Given the description of an element on the screen output the (x, y) to click on. 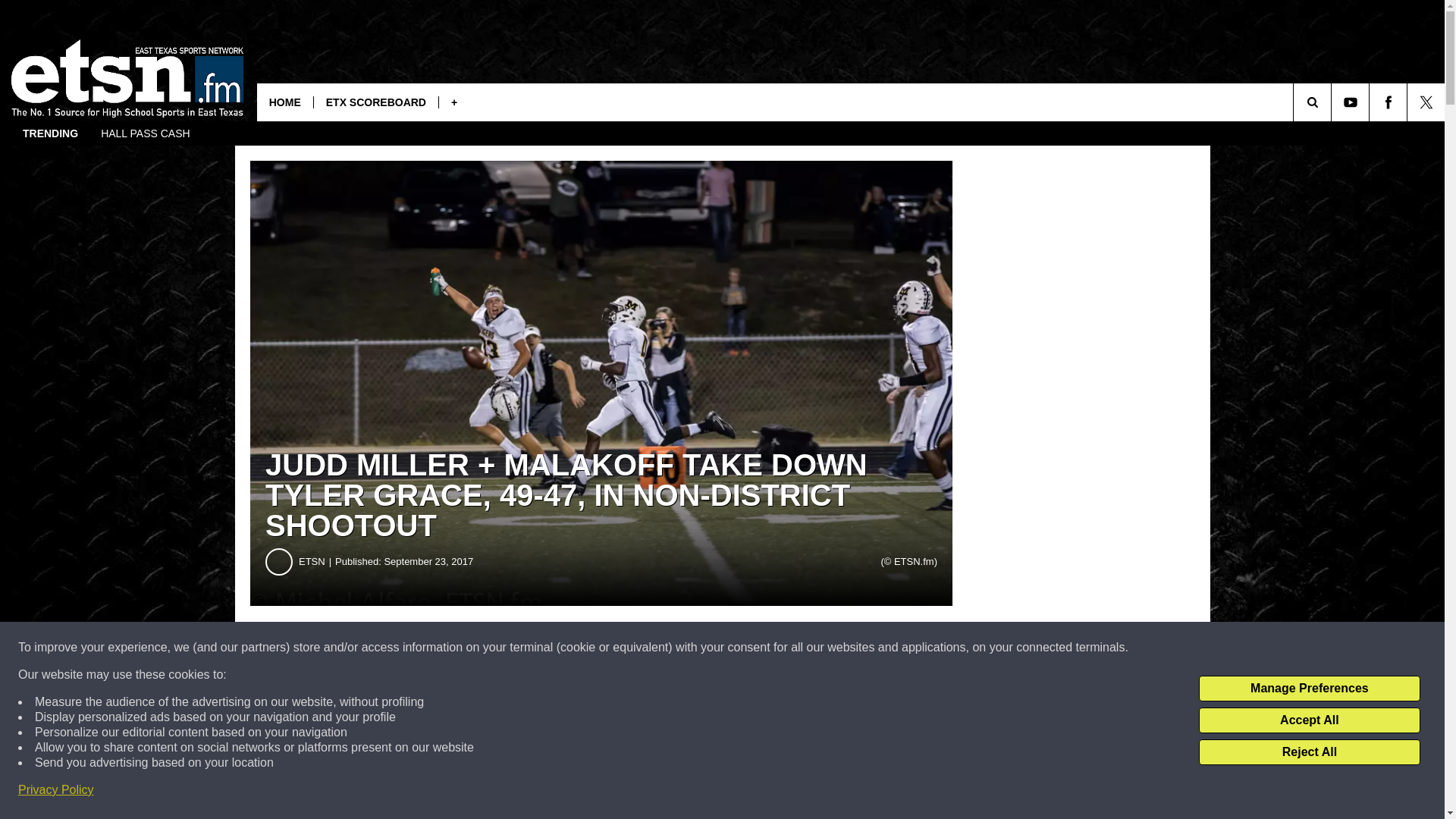
Share on Facebook (460, 647)
Share on Twitter (741, 647)
Visit us on Facebook (1388, 102)
ETX SCOREBOARD (375, 102)
ETSN (316, 561)
SEARCH (1333, 102)
HALL PASS CASH (145, 133)
SEARCH (1333, 102)
SHARE ON TWITTER (741, 647)
Reject All (1309, 751)
